Given the description of an element on the screen output the (x, y) to click on. 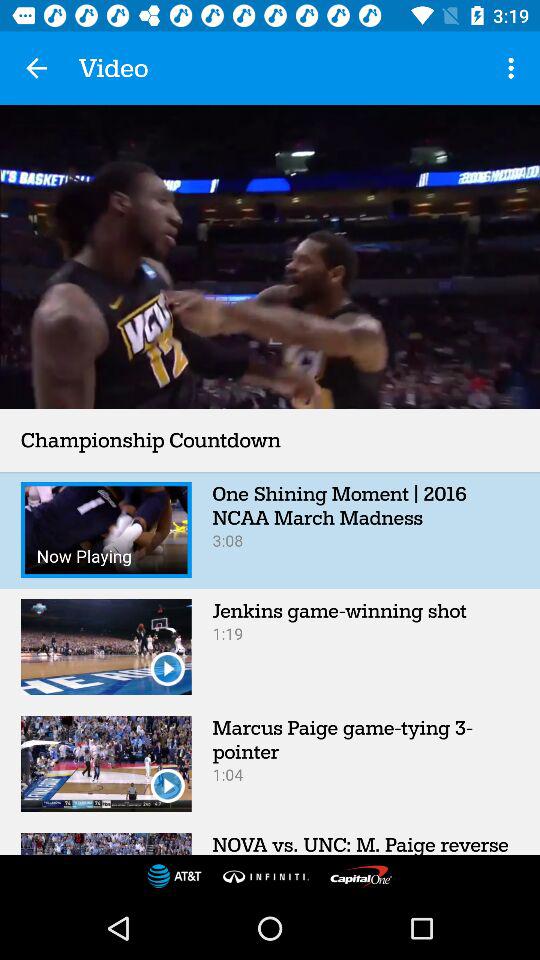
tap app next to video icon (36, 68)
